Given the description of an element on the screen output the (x, y) to click on. 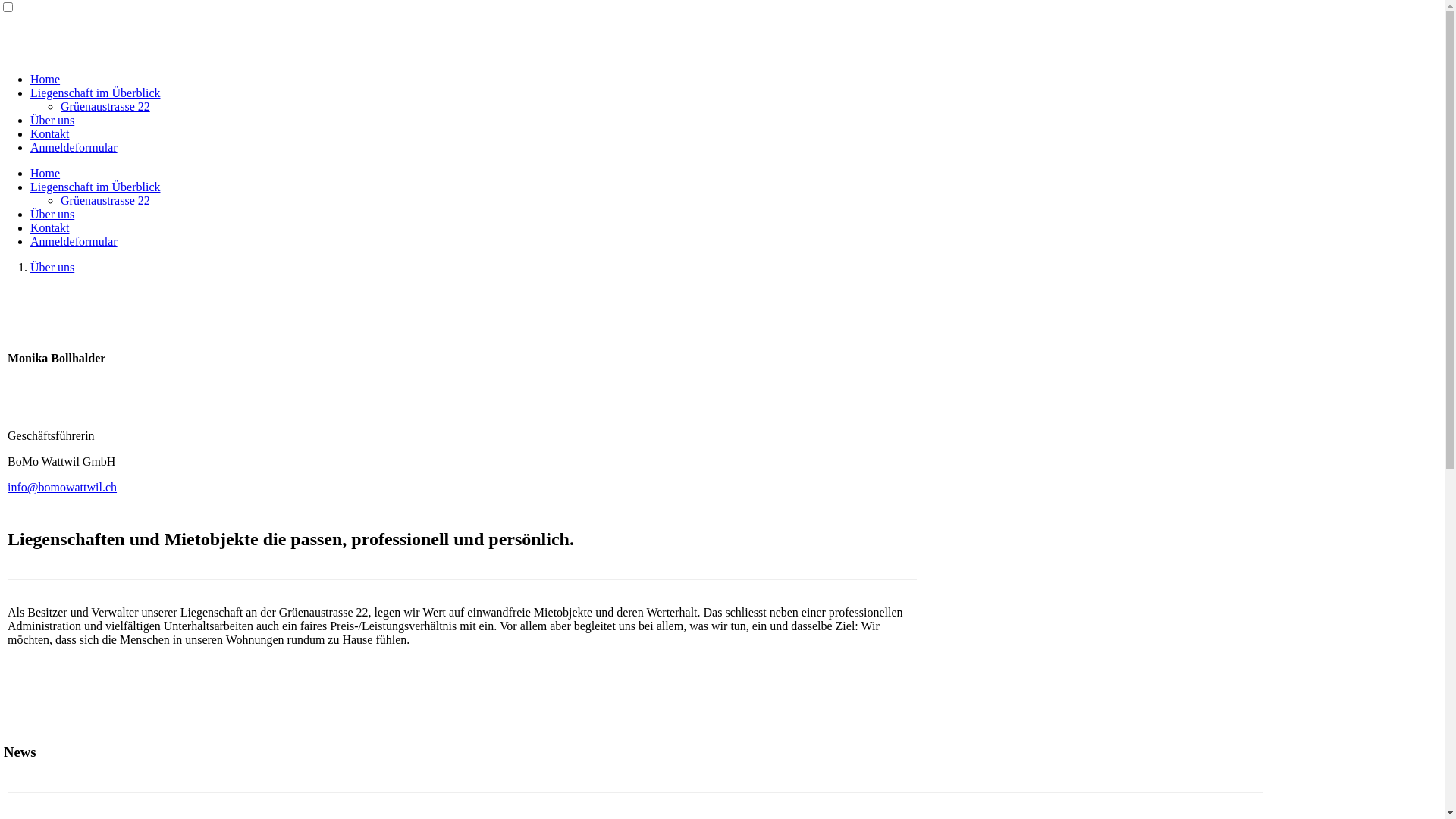
Home Element type: text (44, 172)
info@bomowattwil.ch Element type: text (61, 486)
Anmeldeformular Element type: text (73, 241)
Kontakt Element type: text (49, 227)
Kontakt Element type: text (49, 133)
Anmeldeformular Element type: text (73, 147)
Home Element type: text (44, 78)
